Given the description of an element on the screen output the (x, y) to click on. 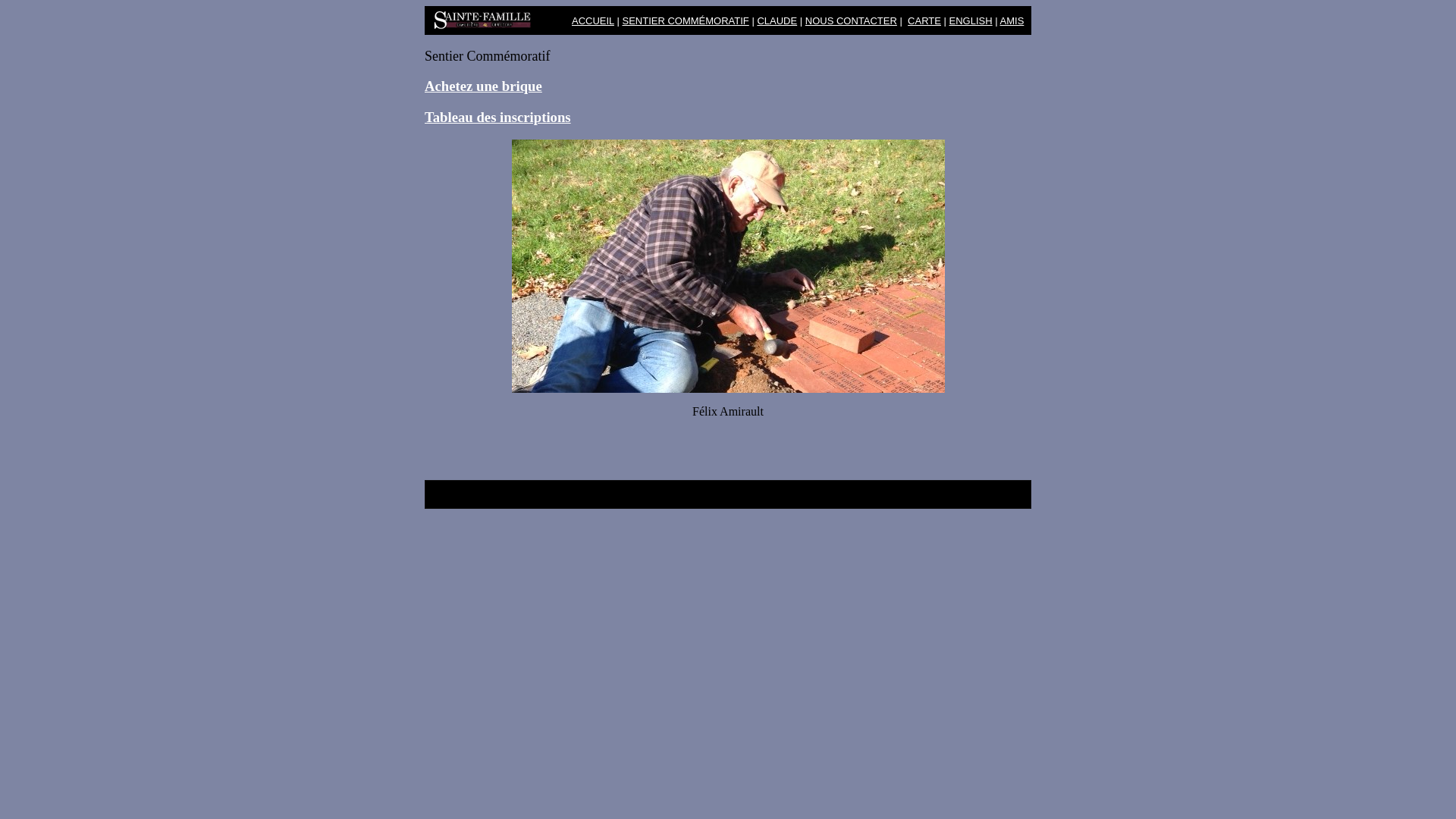
Tableau des inscriptions Element type: text (497, 117)
CARTE Element type: text (924, 20)
AMIS Element type: text (1012, 20)
NOUS CONTACTER Element type: text (851, 20)
ACCUEIL Element type: text (592, 20)
CLAUDE Element type: text (776, 20)
ENGLISH Element type: text (970, 20)
Achetez une brique Element type: text (483, 86)
